Given the description of an element on the screen output the (x, y) to click on. 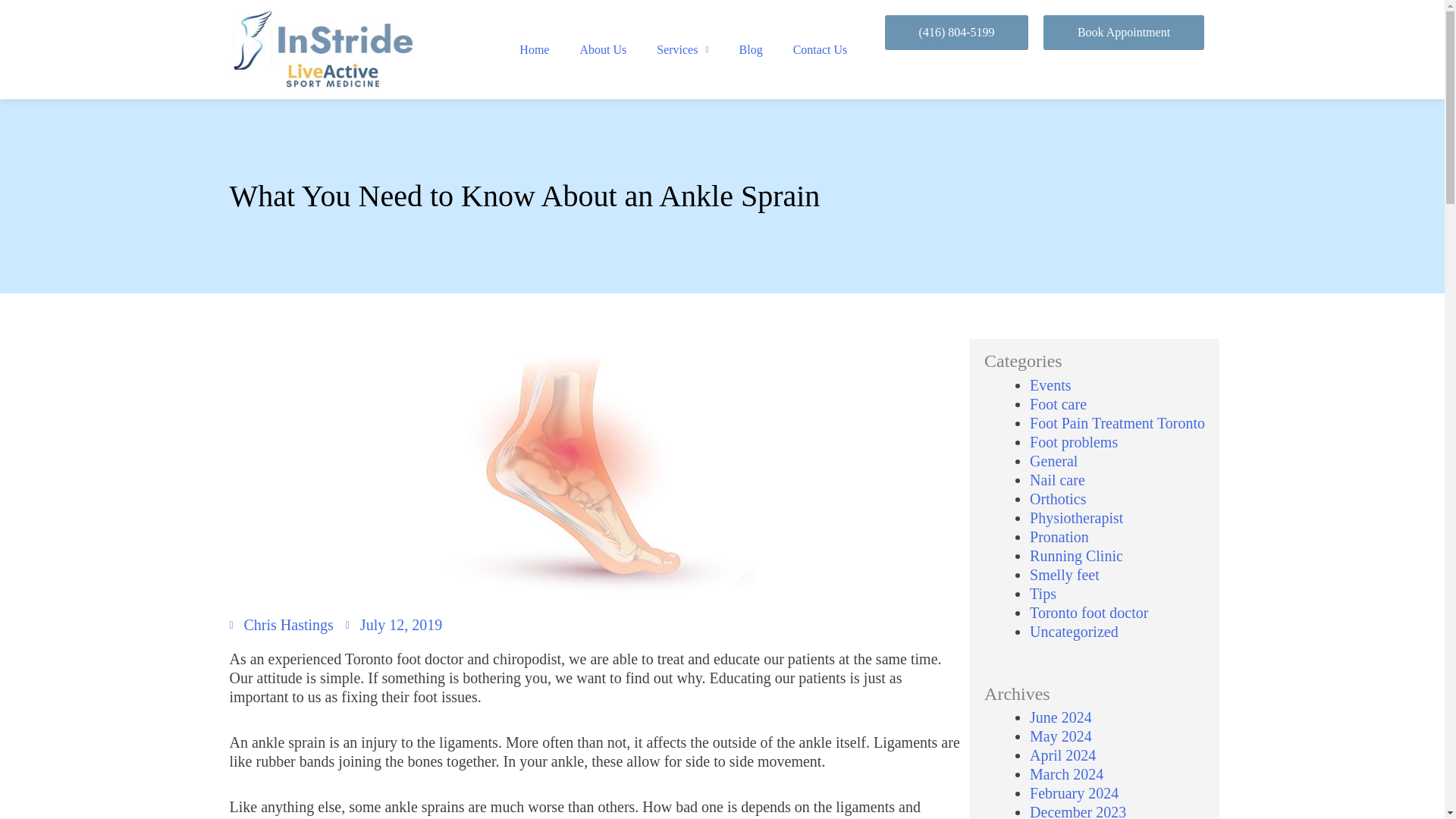
About Us (603, 49)
Services (682, 49)
Contact Us (820, 49)
Blog (750, 49)
Home (533, 49)
